Given the description of an element on the screen output the (x, y) to click on. 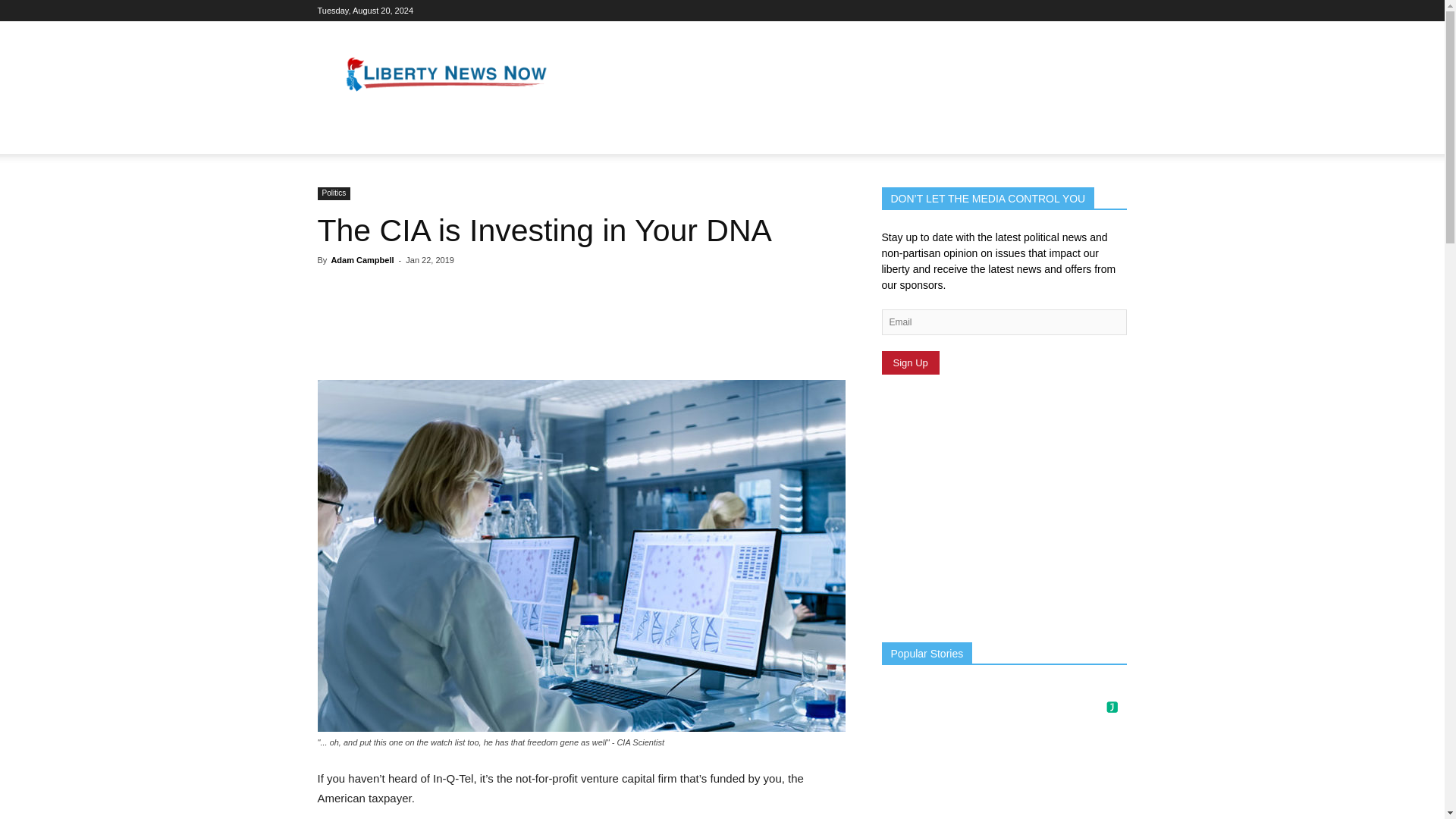
Sign Up (909, 362)
CULTURE (422, 135)
Advertisement (850, 76)
Liberty News Now (445, 76)
POLITICS (352, 135)
OPINION (491, 135)
